Given the description of an element on the screen output the (x, y) to click on. 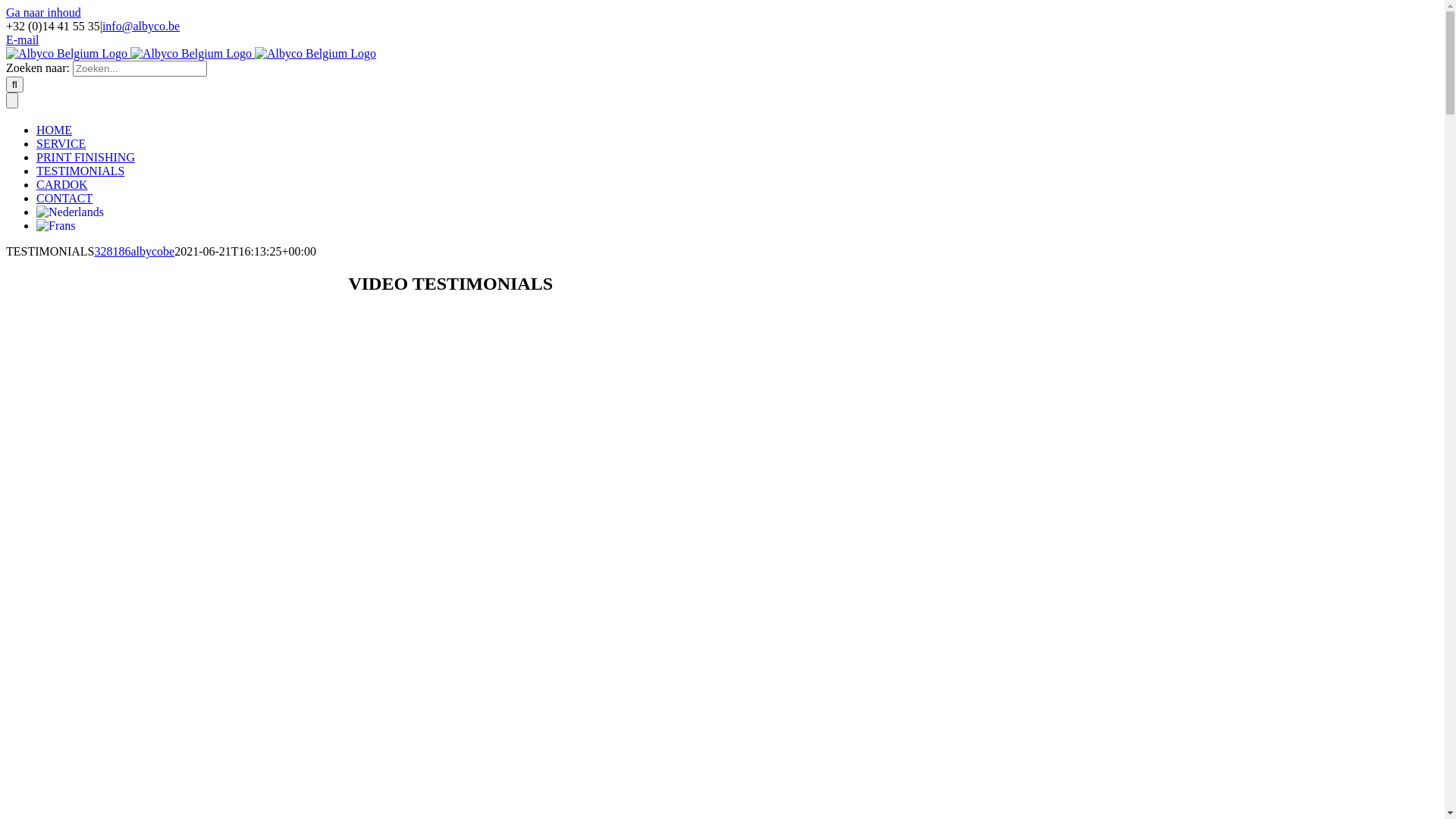
info@albyco.be Element type: text (140, 25)
TESTIMONIALS Element type: text (80, 170)
HOME Element type: text (54, 129)
328186albycobe Element type: text (134, 250)
CONTACT Element type: text (64, 197)
PRINT FINISHING Element type: text (85, 156)
E-mail Element type: text (22, 39)
CARDOK Element type: text (61, 184)
SERVICE Element type: text (60, 143)
Ga naar inhoud Element type: text (43, 12)
